Given the description of an element on the screen output the (x, y) to click on. 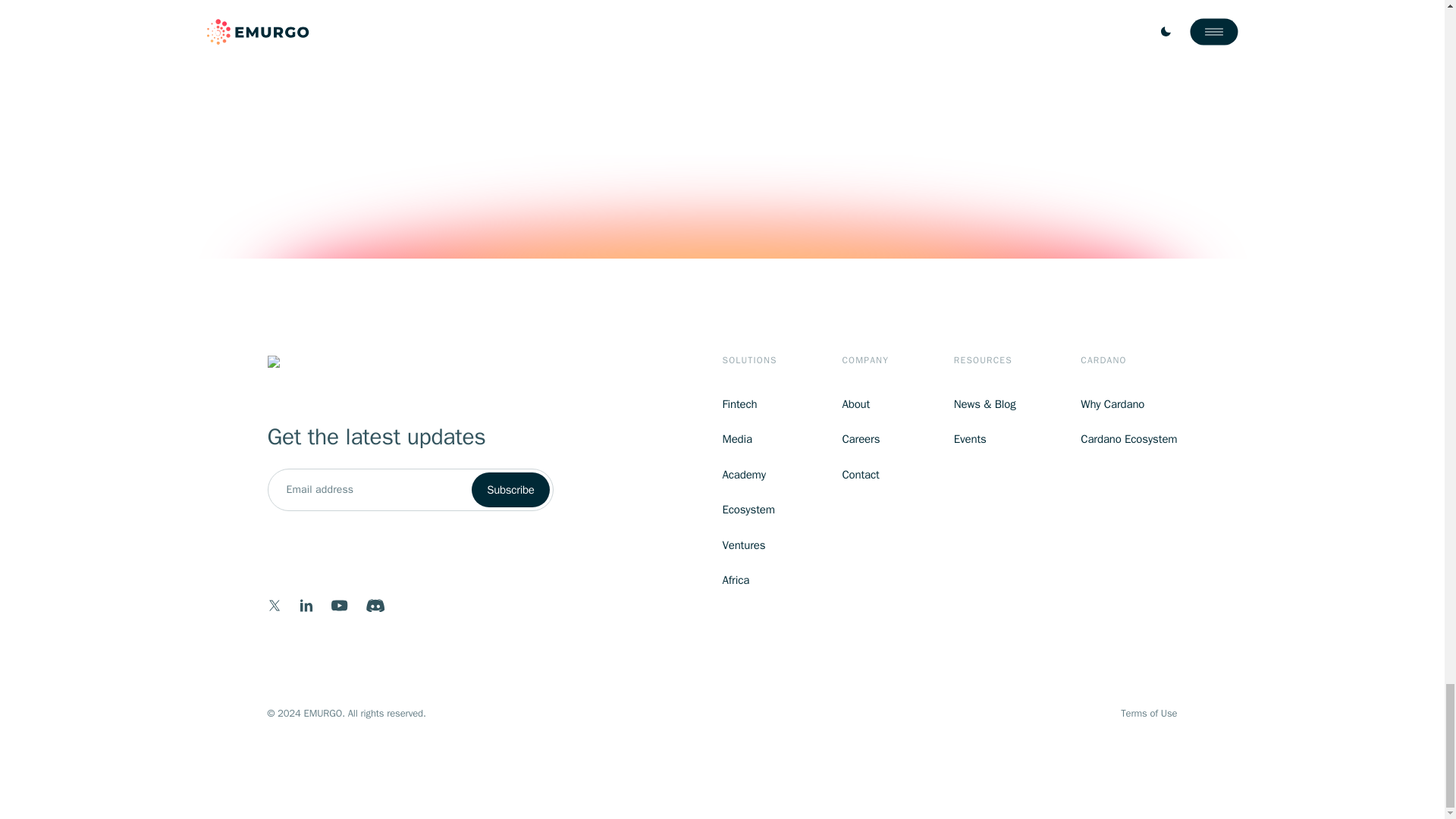
Media (749, 438)
Subscribe (509, 489)
Twitter (273, 605)
Academy (749, 475)
LinkedIn (306, 604)
Youtube (338, 604)
Ecosystem (749, 509)
Africa (749, 579)
Careers (864, 438)
Ventures (749, 545)
About (864, 404)
Discord (374, 604)
Fintech (749, 404)
Contact (864, 475)
